Given the description of an element on the screen output the (x, y) to click on. 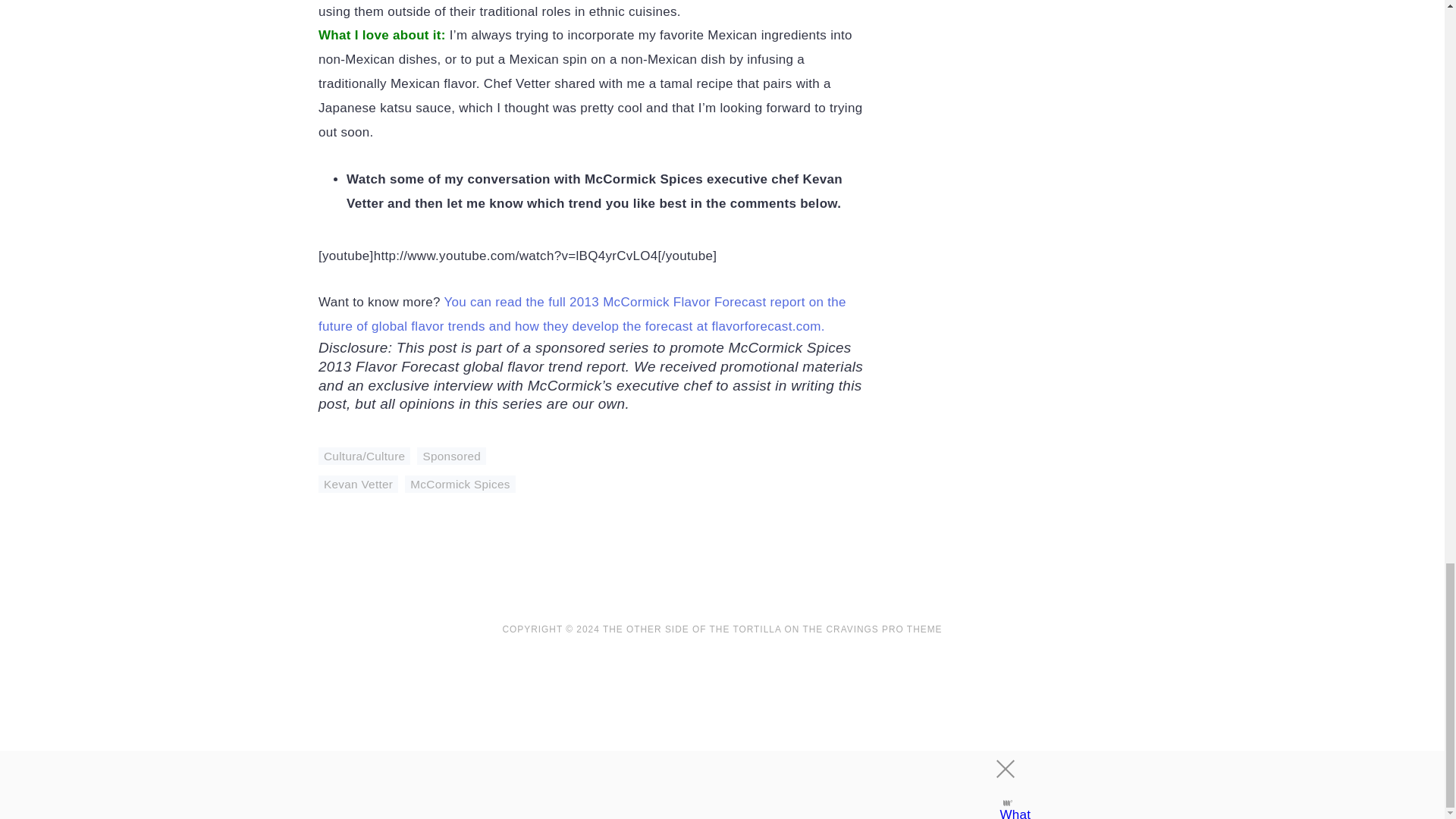
CRAVINGS PRO THEME (883, 629)
McCormick Spices (459, 484)
Kevan Vetter (357, 484)
Sponsored (451, 456)
